Given the description of an element on the screen output the (x, y) to click on. 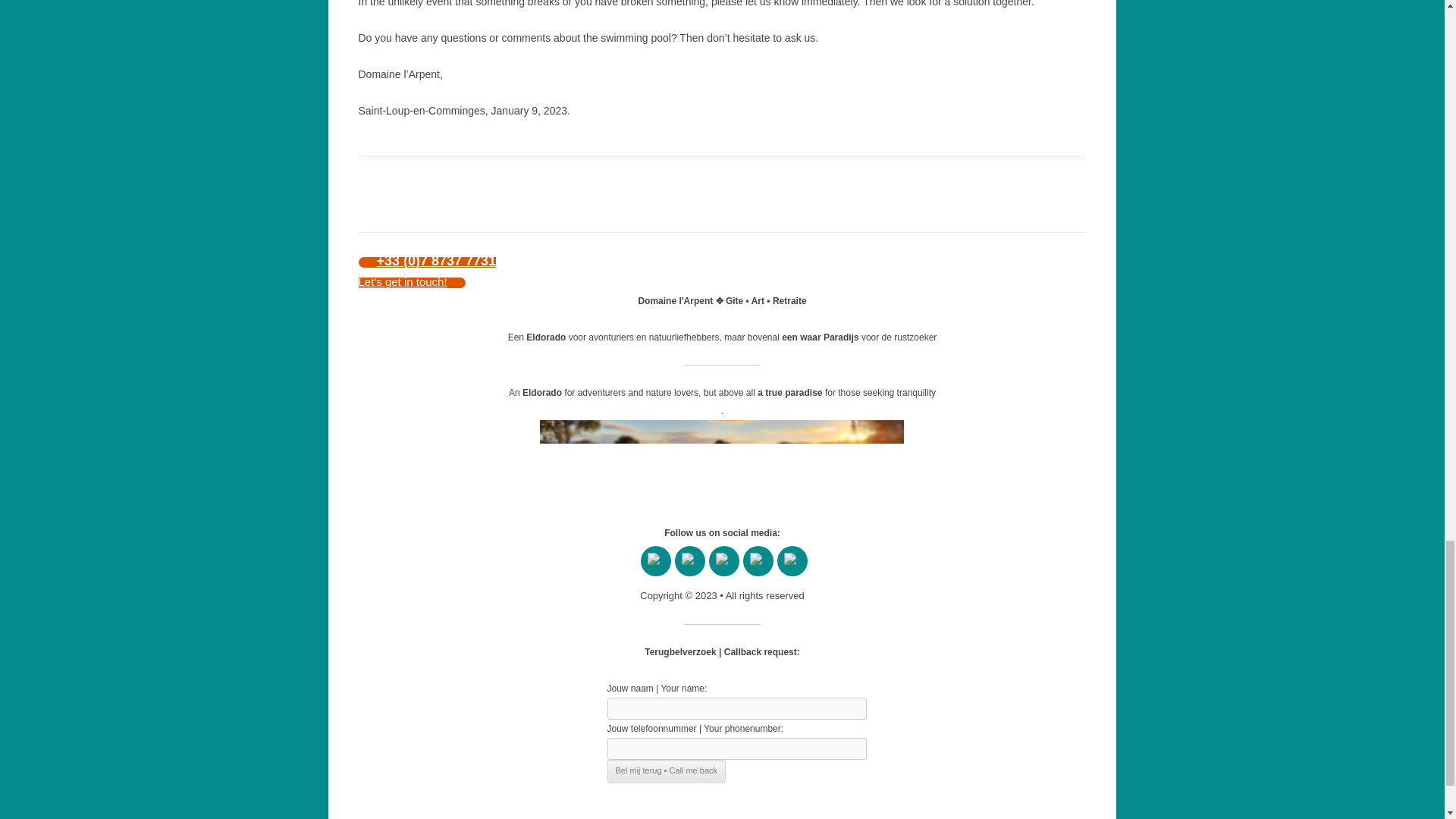
LinkedIn (758, 560)
Pinterest (724, 560)
YouTube (689, 560)
Facebook (655, 560)
Instagram (792, 560)
